Given the description of an element on the screen output the (x, y) to click on. 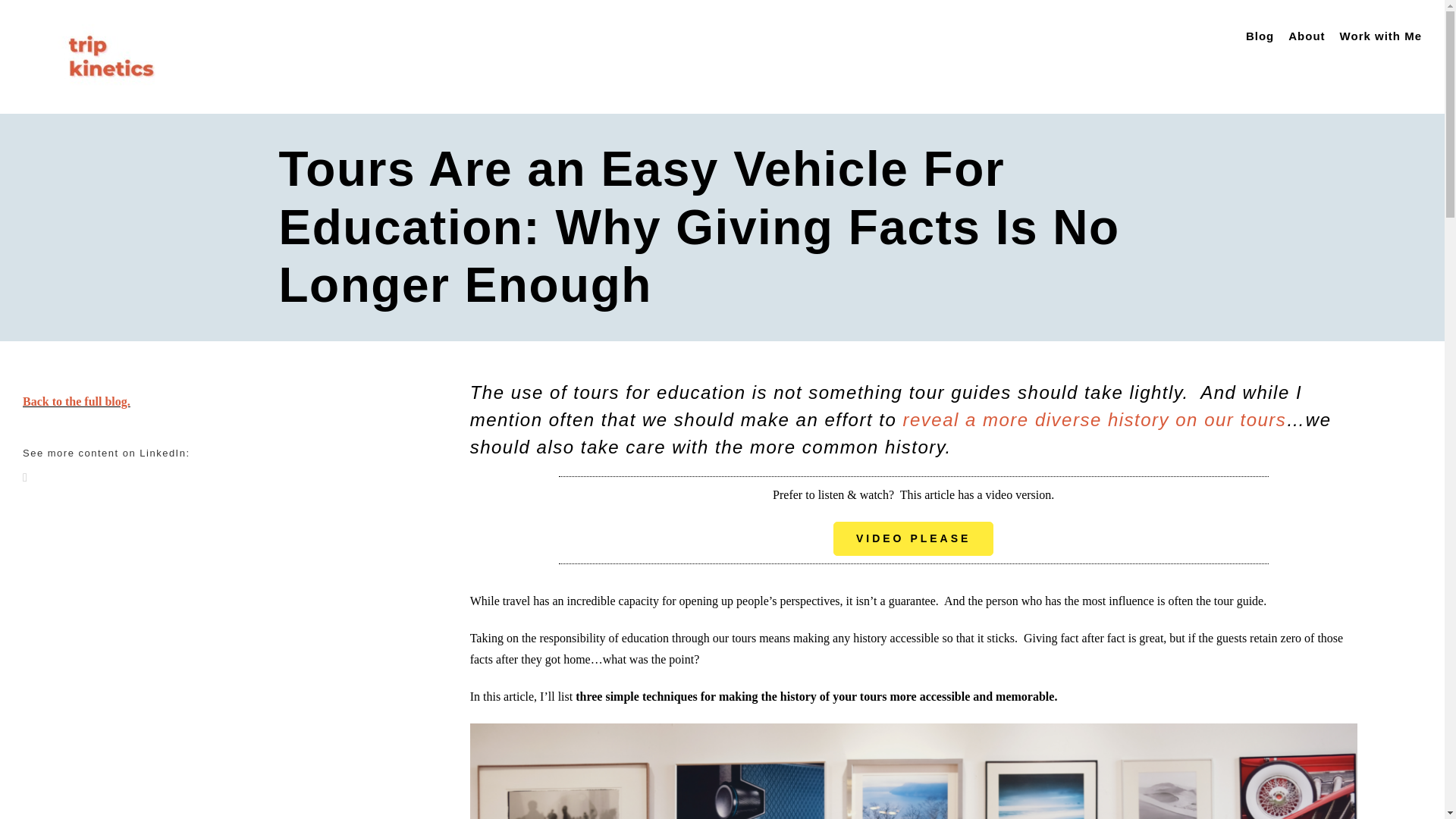
reveal a more diverse history on our tours (1090, 419)
tours are an easy vehicle for education (913, 771)
Work with Me (1380, 36)
Back to the full blog. (77, 400)
VIDEO PLEASE (912, 538)
